Given the description of an element on the screen output the (x, y) to click on. 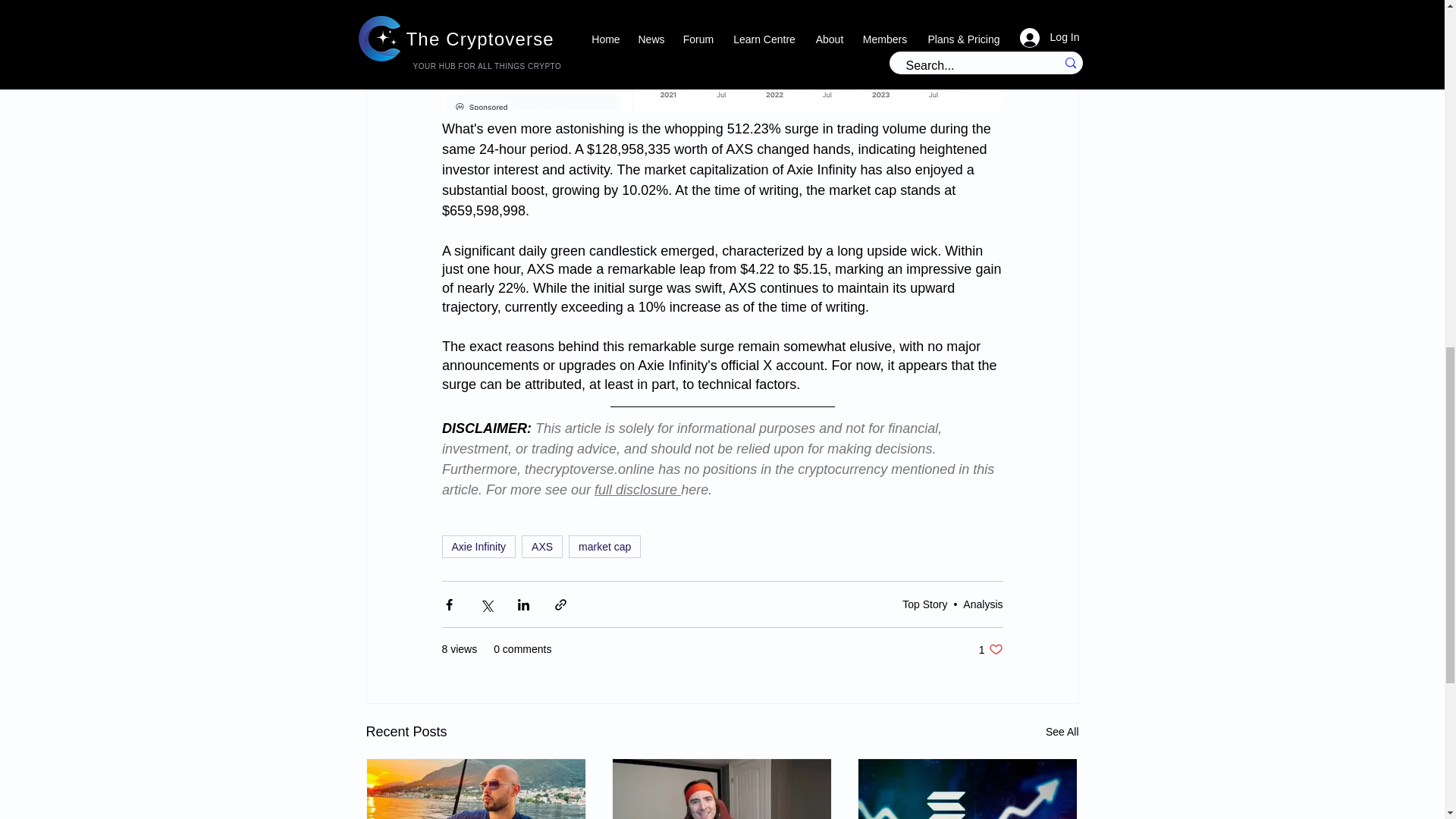
full disclosure (635, 489)
market cap (604, 546)
Axie Infinity (478, 546)
AXS (541, 546)
Top Story (924, 604)
Analysis (982, 604)
See All (1061, 731)
